Given the description of an element on the screen output the (x, y) to click on. 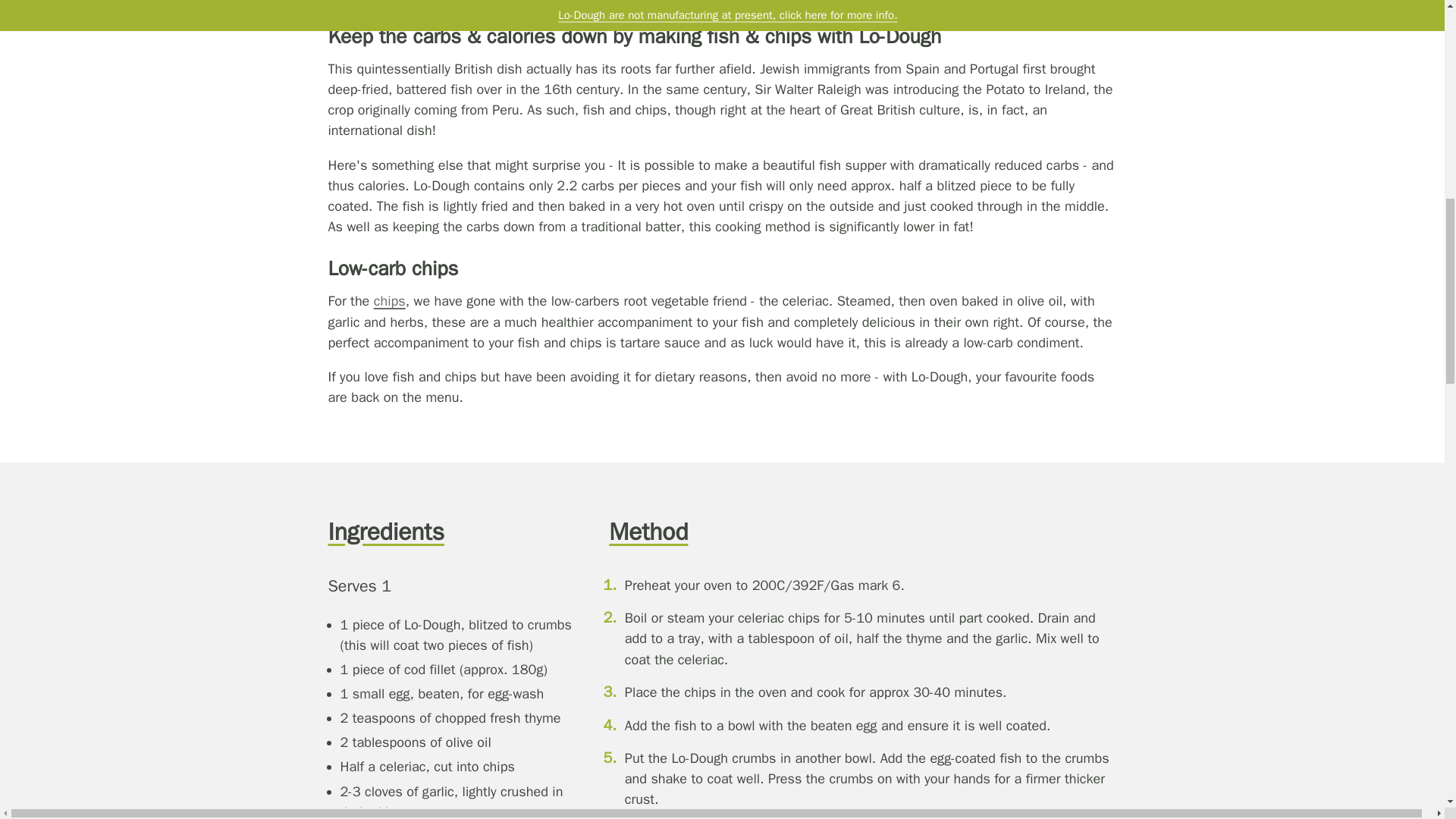
chips (390, 300)
Celeriac Chips (390, 300)
